Given the description of an element on the screen output the (x, y) to click on. 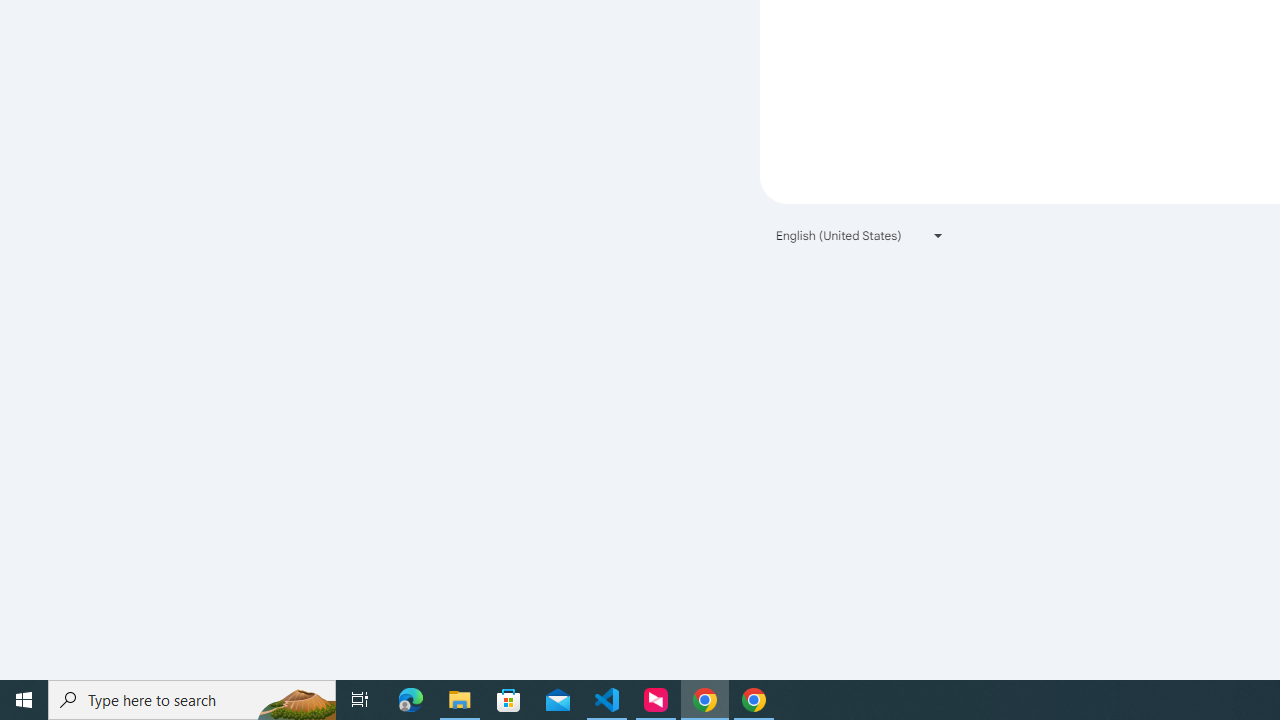
English (United States) (860, 234)
